Given the description of an element on the screen output the (x, y) to click on. 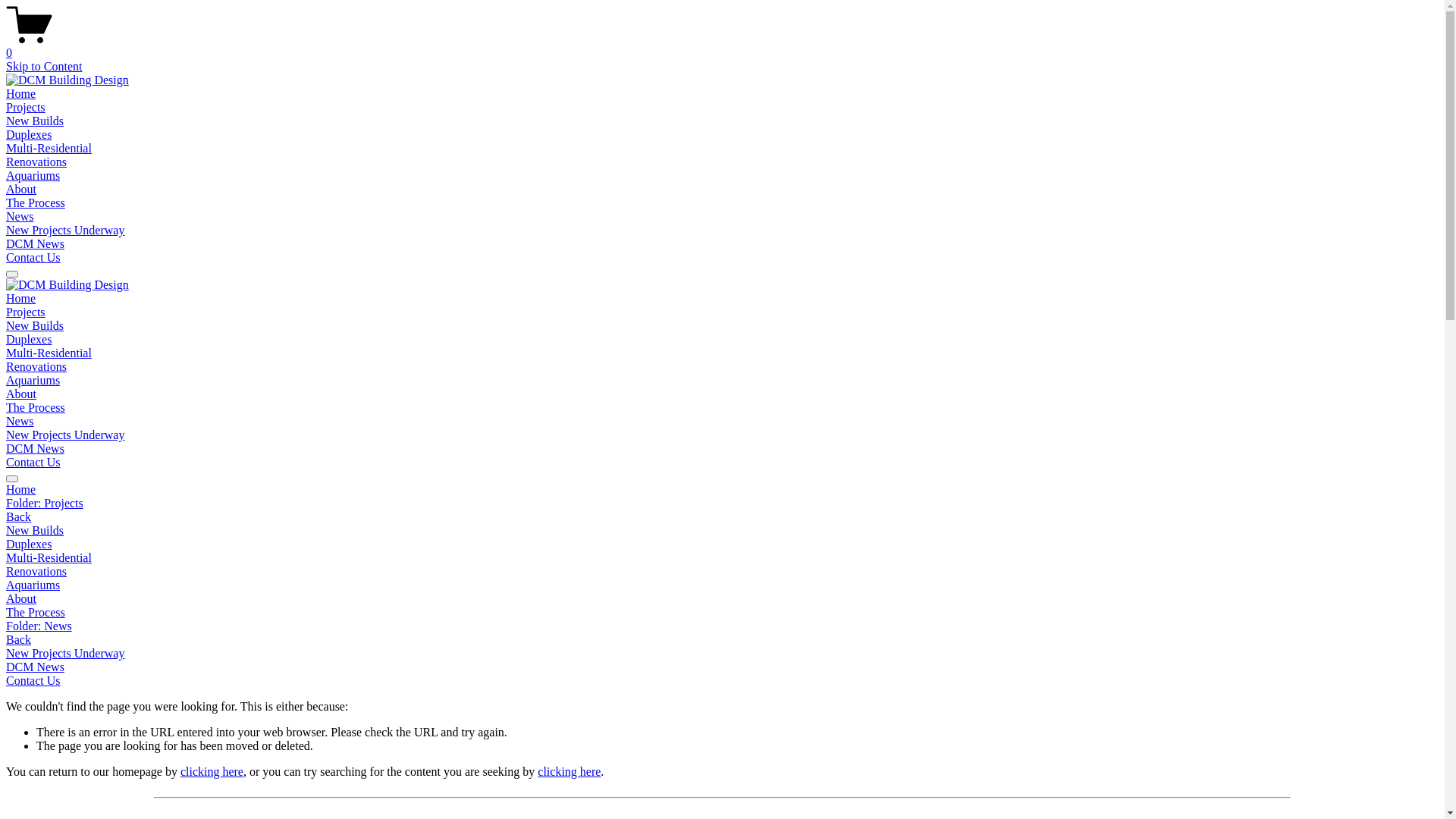
Aquariums Element type: text (32, 379)
Renovations Element type: text (36, 366)
Multi-Residential Element type: text (48, 147)
About Element type: text (21, 188)
The Process Element type: text (35, 407)
New Builds Element type: text (722, 530)
Contact Us Element type: text (33, 680)
Contact Us Element type: text (33, 461)
Folder: Projects Element type: text (722, 503)
Back Element type: text (18, 639)
Home Element type: text (20, 297)
0 Element type: text (722, 45)
Duplexes Element type: text (28, 134)
Multi-Residential Element type: text (722, 557)
Home Element type: text (20, 93)
Back Element type: text (18, 516)
Renovations Element type: text (36, 161)
About Element type: text (21, 393)
Aquariums Element type: text (32, 175)
New Projects Underway Element type: text (65, 229)
Renovations Element type: text (722, 571)
Contact Us Element type: text (33, 257)
Duplexes Element type: text (722, 544)
DCM News Element type: text (35, 243)
New Projects Underway Element type: text (65, 434)
News Element type: text (19, 216)
New Builds Element type: text (34, 325)
Aquariums Element type: text (722, 585)
The Process Element type: text (722, 612)
Projects Element type: text (25, 106)
Folder: News Element type: text (722, 626)
About Element type: text (722, 598)
Projects Element type: text (25, 311)
Skip to Content Element type: text (43, 65)
New Builds Element type: text (34, 120)
The Process Element type: text (35, 202)
DCM News Element type: text (722, 667)
clicking here Element type: text (211, 771)
News Element type: text (19, 420)
Multi-Residential Element type: text (48, 352)
Duplexes Element type: text (28, 338)
clicking here Element type: text (568, 771)
DCM News Element type: text (35, 448)
Home Element type: text (722, 489)
New Projects Underway Element type: text (722, 653)
